Given the description of an element on the screen output the (x, y) to click on. 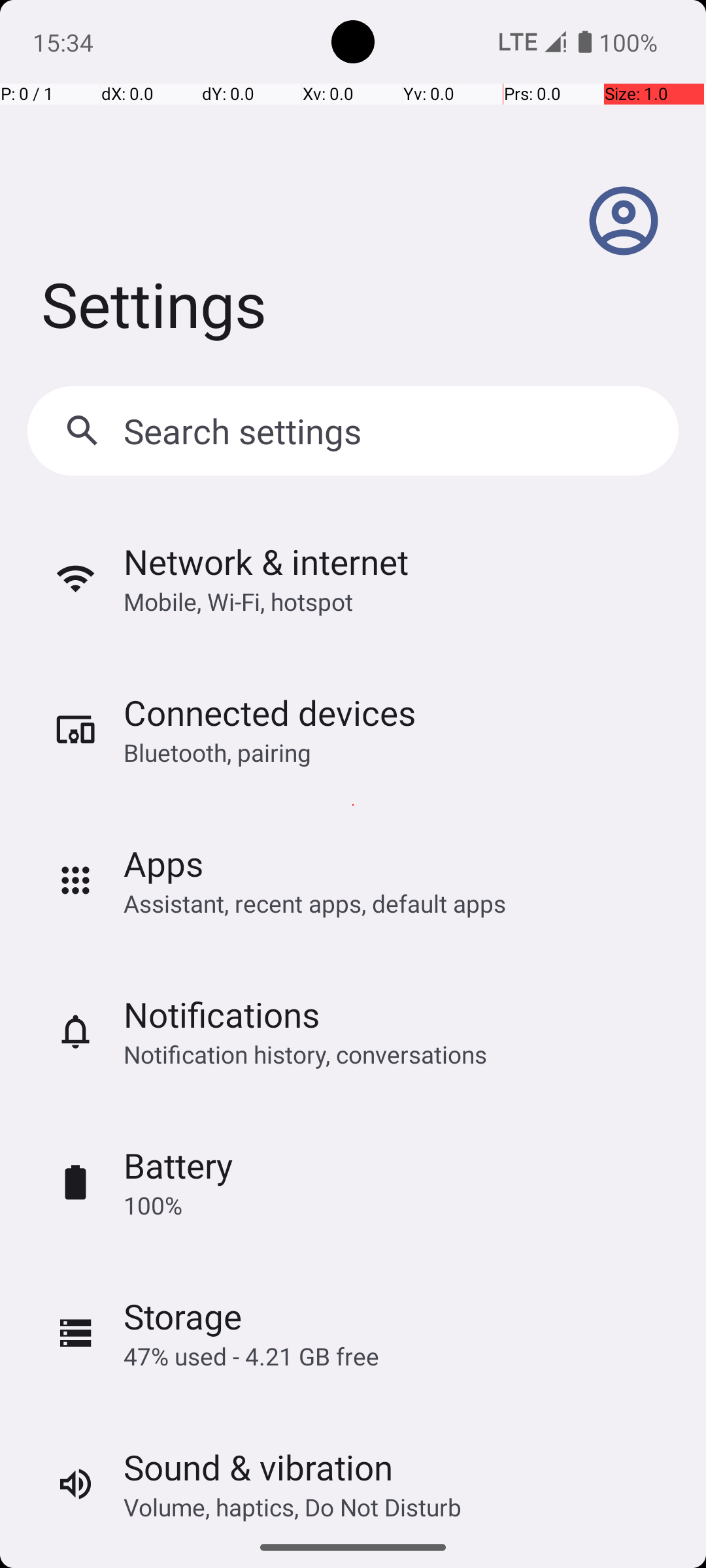
47% used - 4.21 GB free Element type: android.widget.TextView (251, 1355)
